Given the description of an element on the screen output the (x, y) to click on. 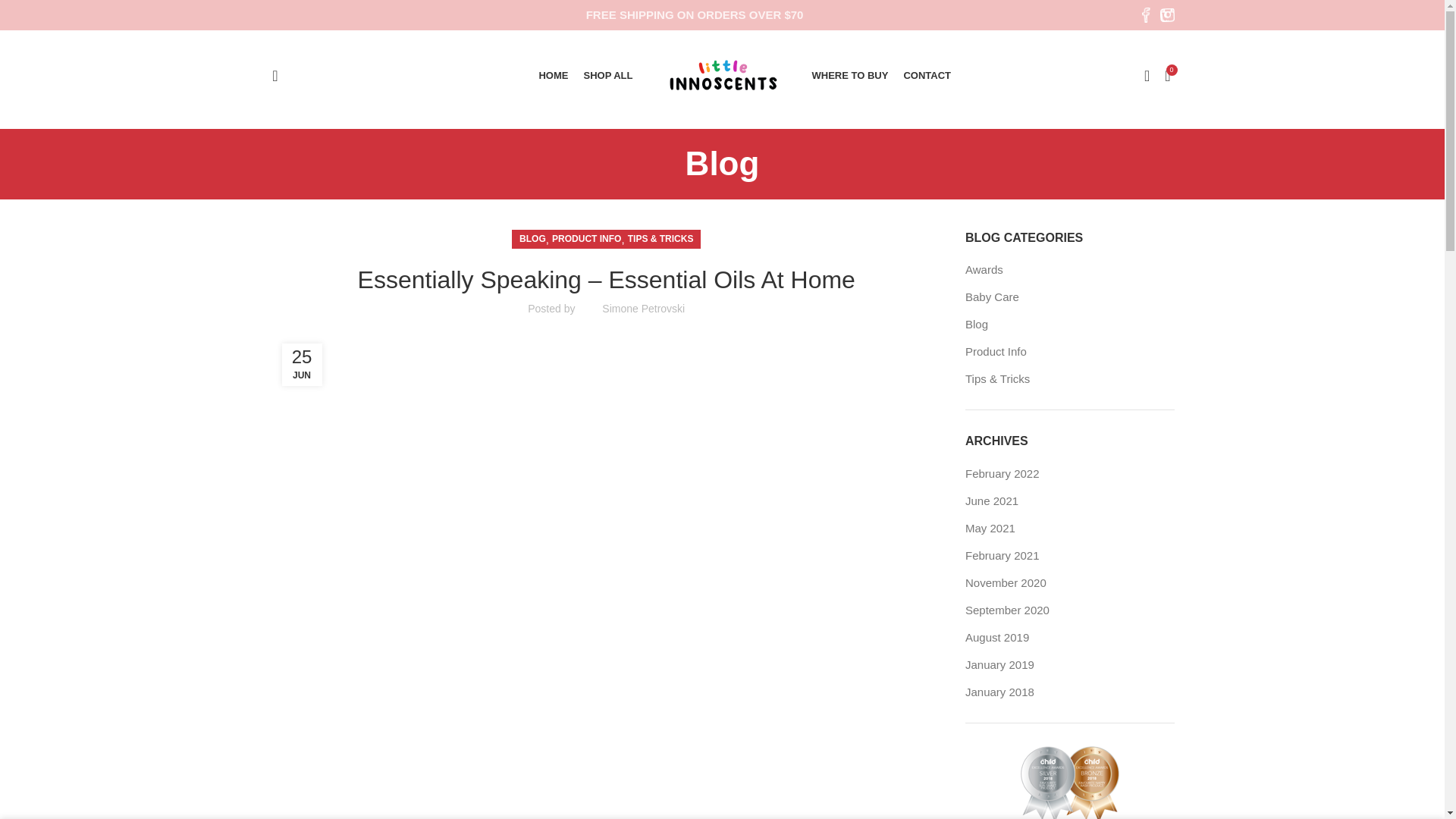
CONTACT (926, 75)
Simone Petrovski (643, 308)
Instagram (1163, 14)
WHERE TO BUY (849, 75)
SHOP ALL (607, 75)
HOME (552, 75)
PRODUCT INFO (586, 239)
BLOG (532, 239)
Facebook (1143, 14)
